Given the description of an element on the screen output the (x, y) to click on. 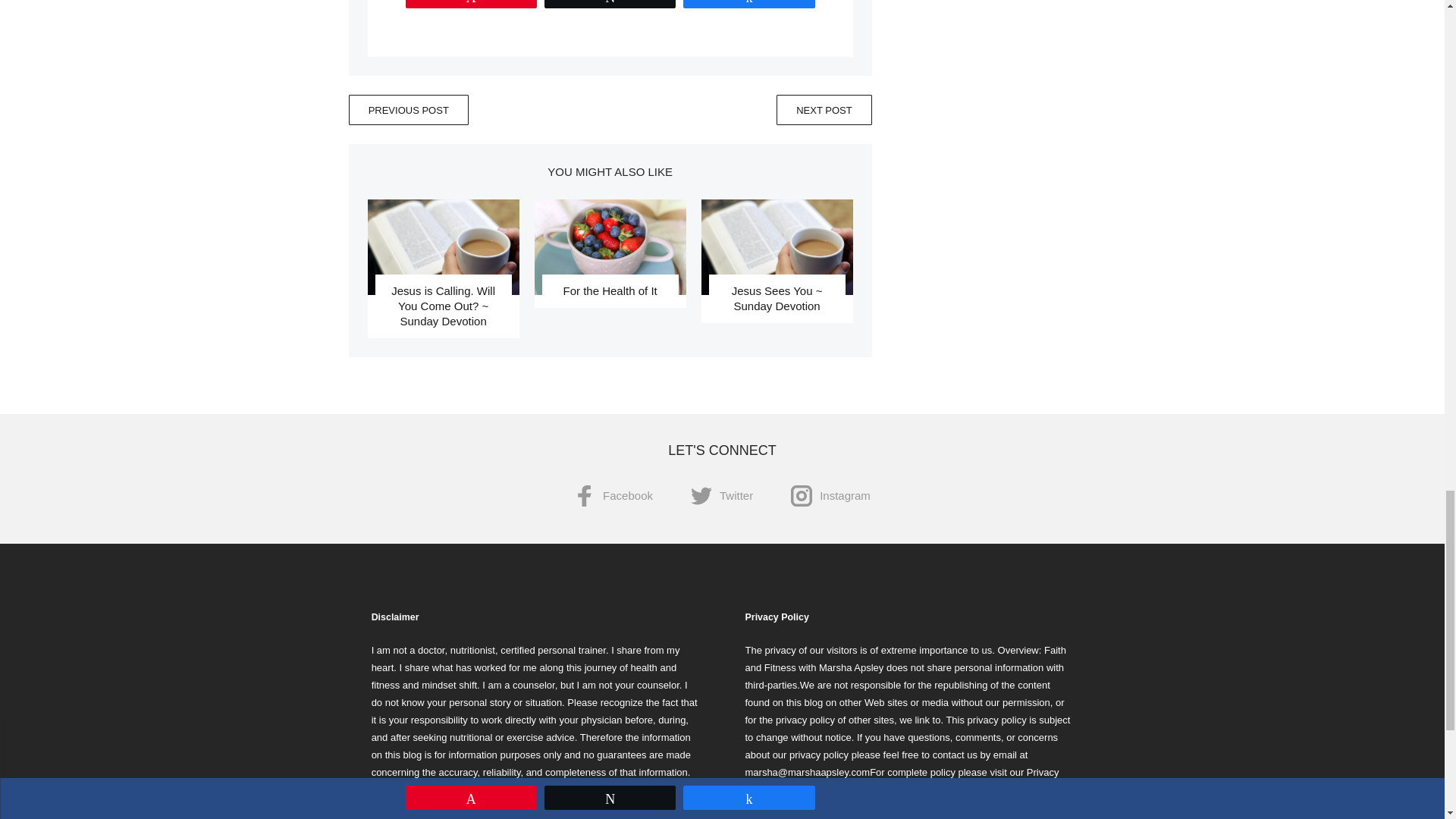
PREVIOUS POST (408, 110)
For the Health of It (609, 290)
NEXT POST (823, 110)
